Given the description of an element on the screen output the (x, y) to click on. 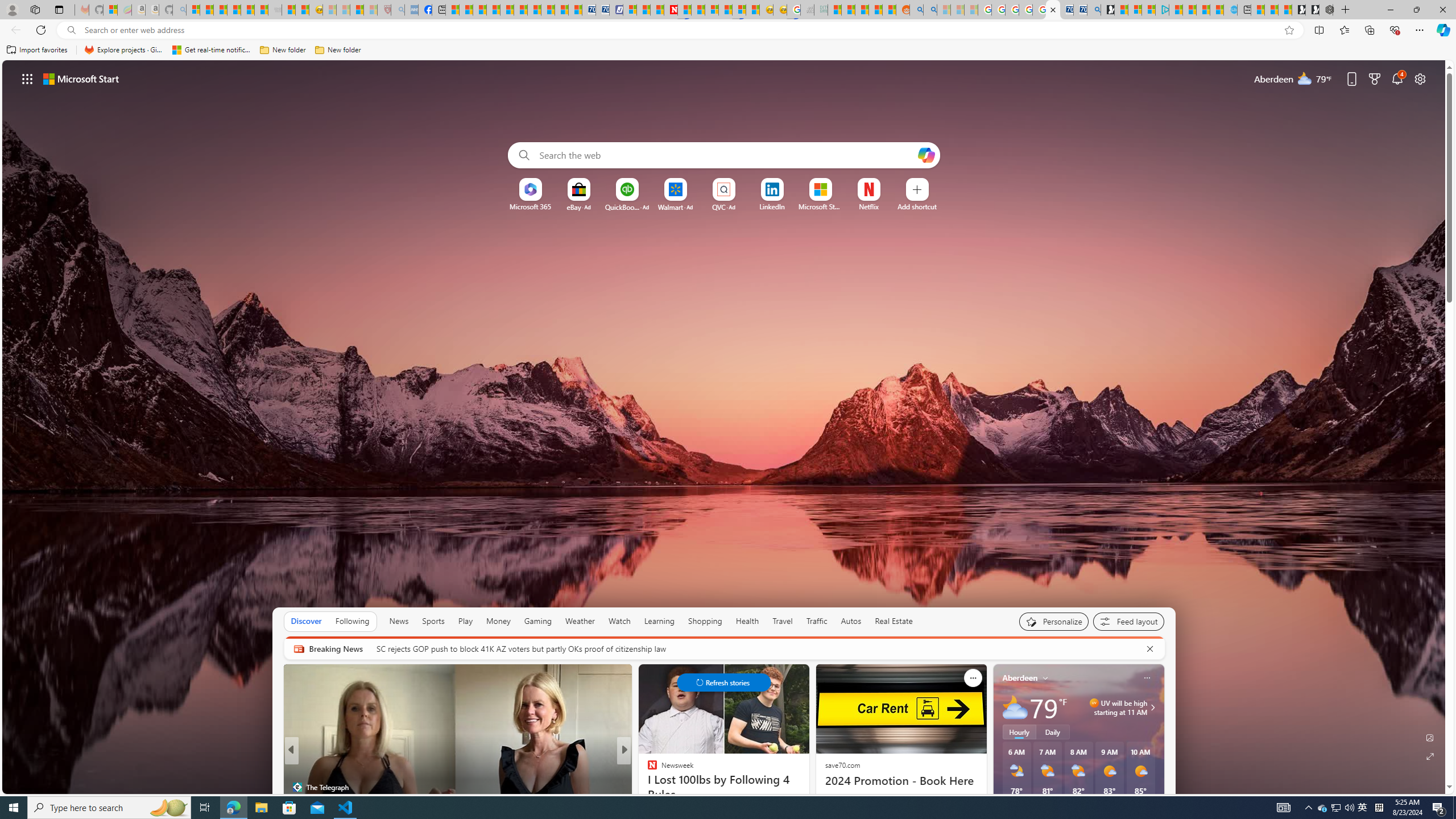
NCL Adult Asthma Inhaler Choice Guideline - Sleeping (411, 9)
Ad (731, 207)
